Given the description of an element on the screen output the (x, y) to click on. 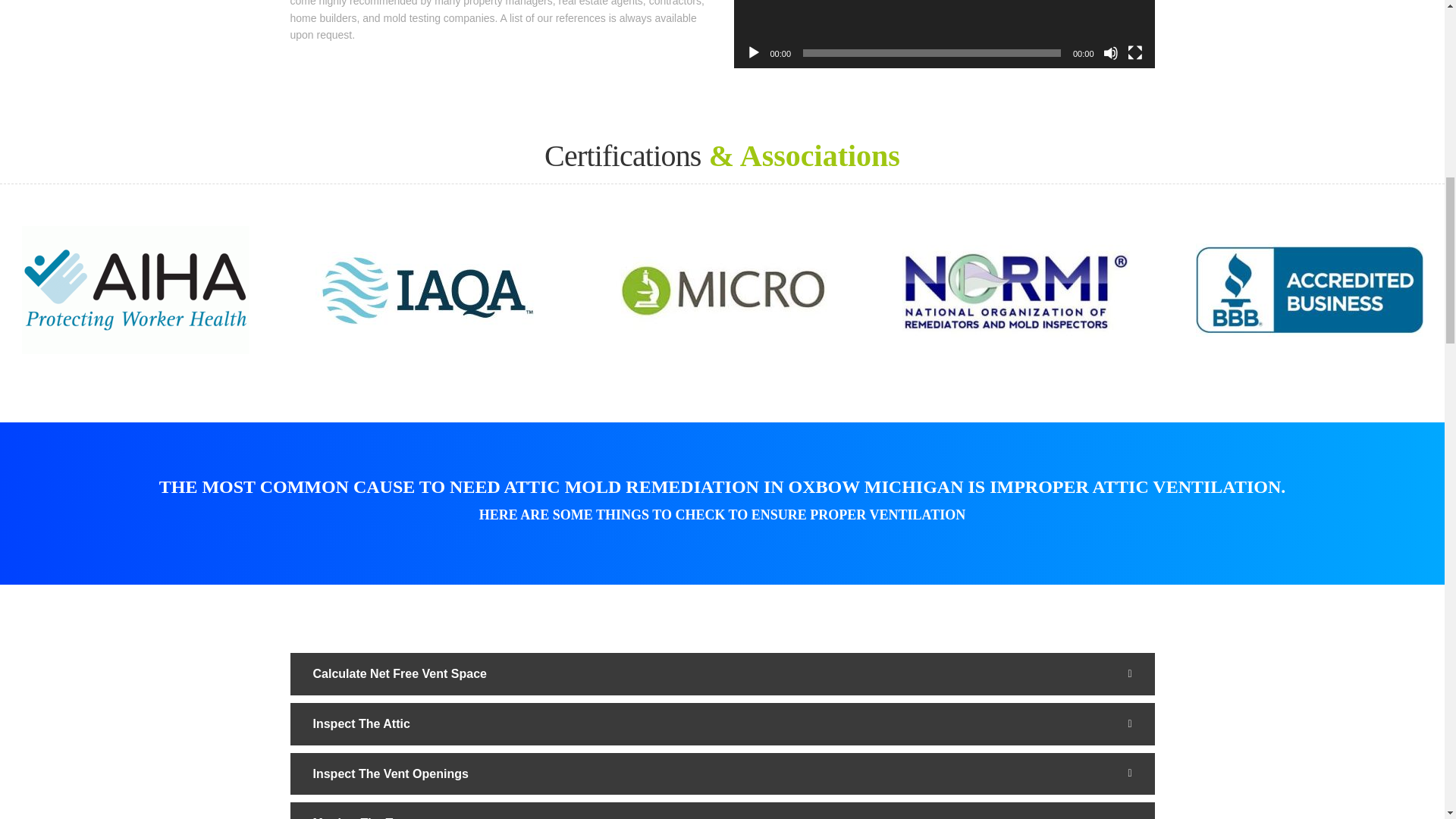
Play (753, 52)
Mute (1110, 52)
Fullscreen (1133, 52)
